Given the description of an element on the screen output the (x, y) to click on. 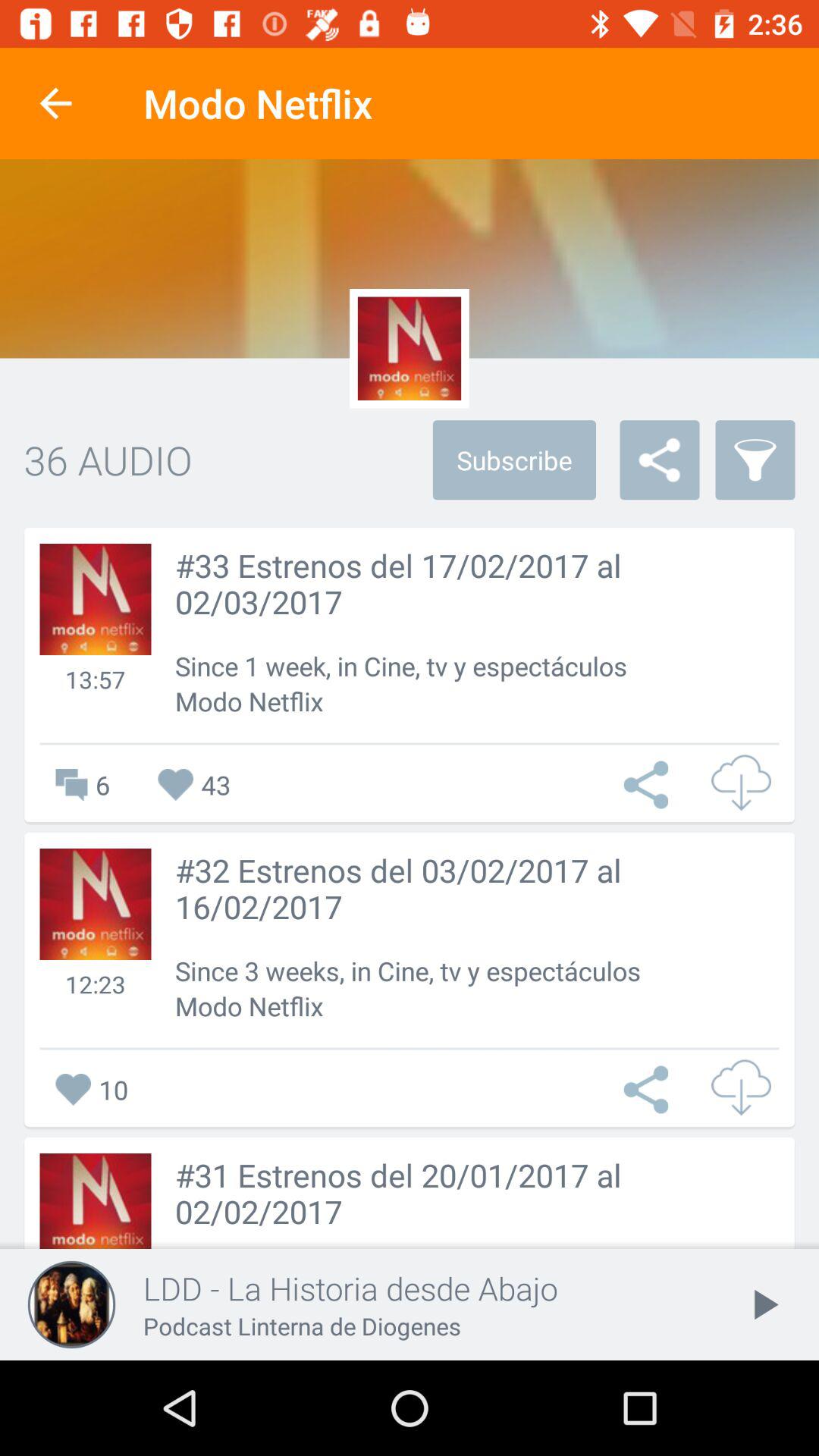
share page (649, 1089)
